Given the description of an element on the screen output the (x, y) to click on. 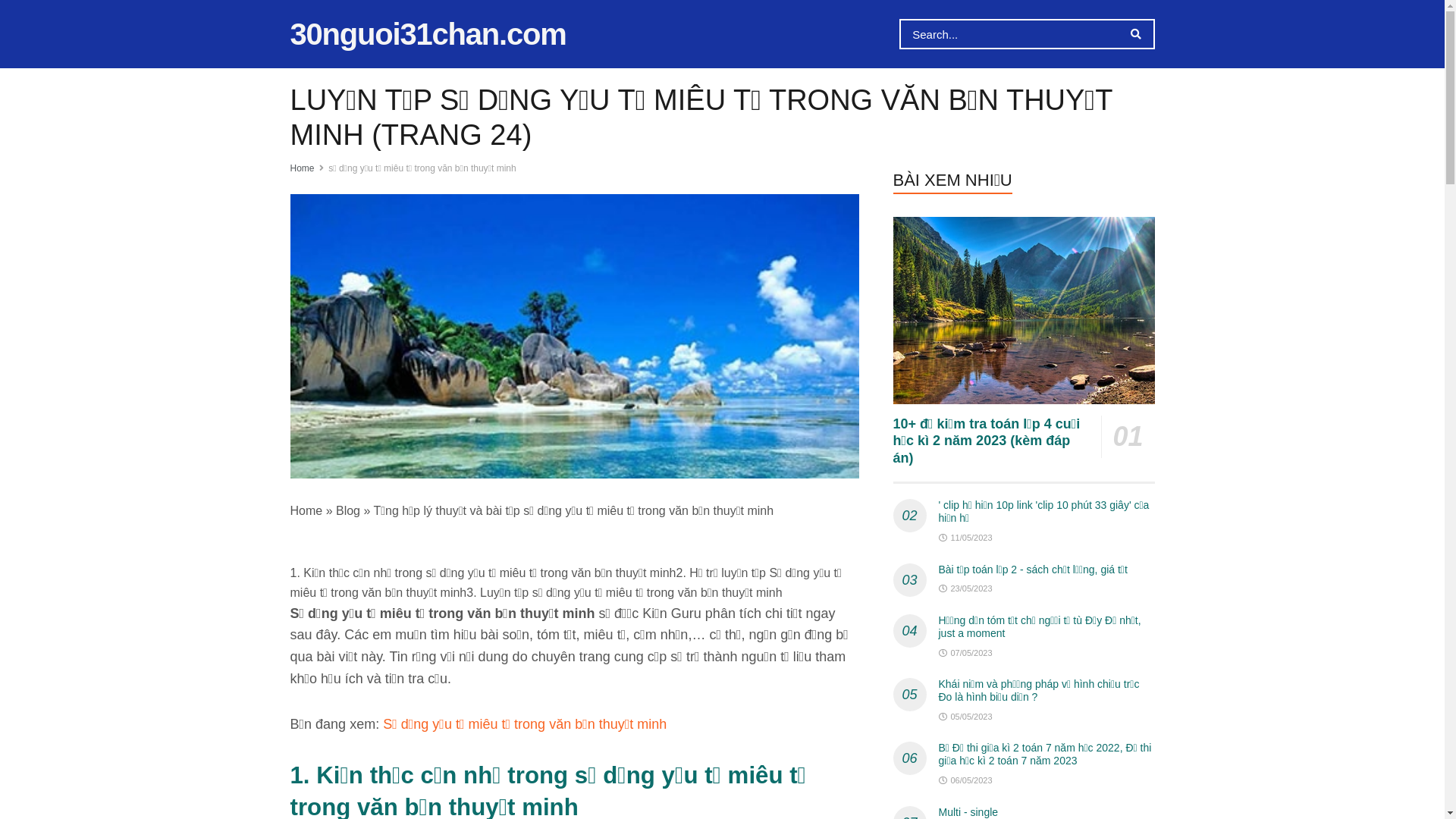
30nguoi31chan.com Element type: text (427, 33)
Multi - single Element type: text (968, 811)
Home Element type: text (301, 168)
